Given the description of an element on the screen output the (x, y) to click on. 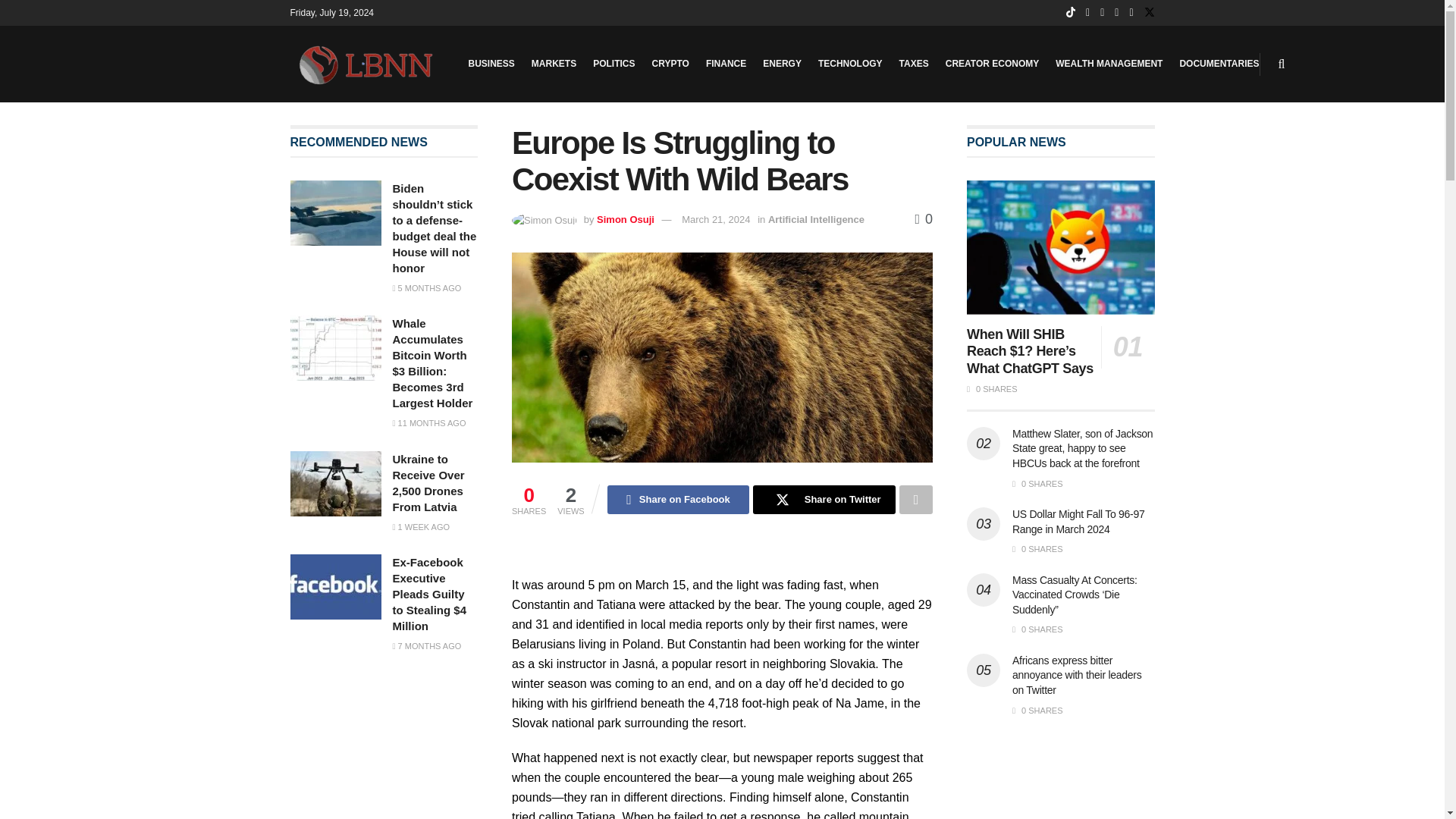
CREATOR ECONOMY (991, 63)
DOCUMENTARIES (1219, 63)
Artificial Intelligence (816, 219)
Simon Osuji (624, 219)
Share on Facebook (678, 499)
March 21, 2024 (715, 219)
0 (923, 218)
WEALTH MANAGEMENT (1108, 63)
Share on Twitter (823, 499)
